Given the description of an element on the screen output the (x, y) to click on. 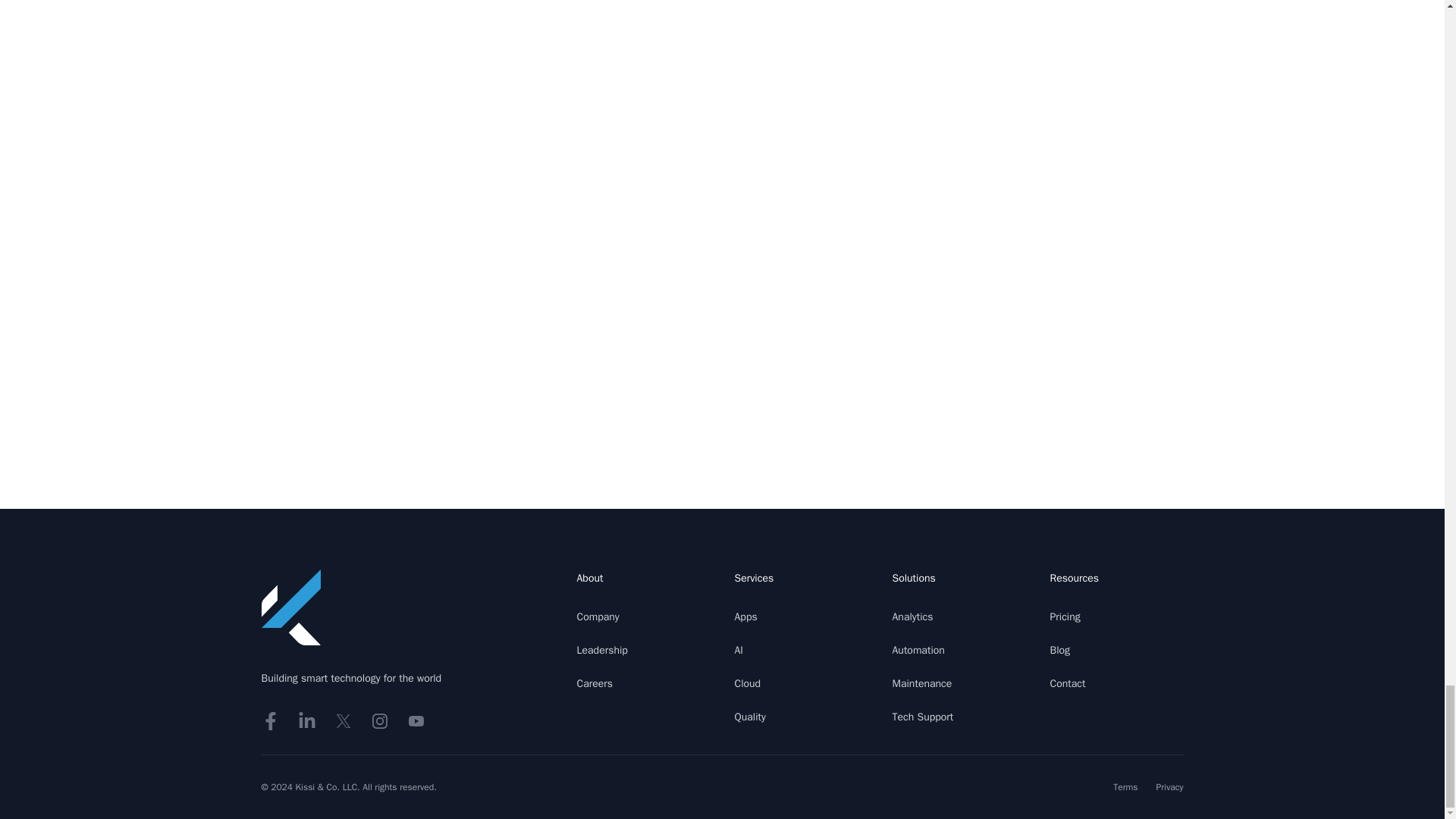
Twitter (342, 720)
Instagram (378, 720)
Company (597, 616)
Apps (745, 616)
Maintenance (921, 683)
Automation (917, 649)
Tech Support (922, 716)
Analytics (912, 616)
Linkedin (306, 720)
Quality (749, 716)
Careers (594, 683)
Pricing (1064, 616)
Blog (1059, 649)
Cloud (746, 683)
Contact (1066, 683)
